Given the description of an element on the screen output the (x, y) to click on. 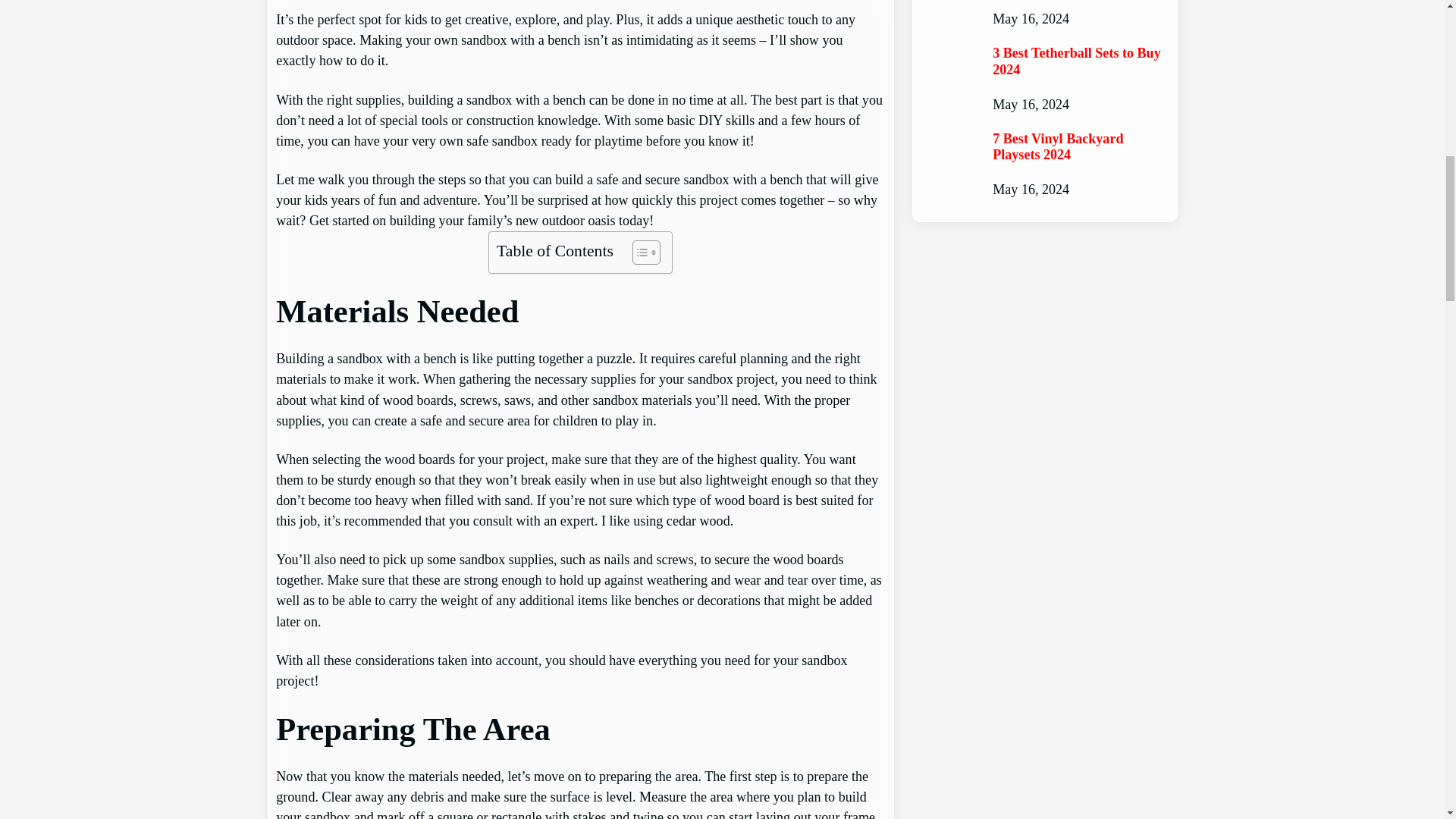
7 Best Vinyl Backyard Playsets 2024 (1078, 147)
3 Best Tetherball Sets to Buy 2024 (1078, 61)
